Given the description of an element on the screen output the (x, y) to click on. 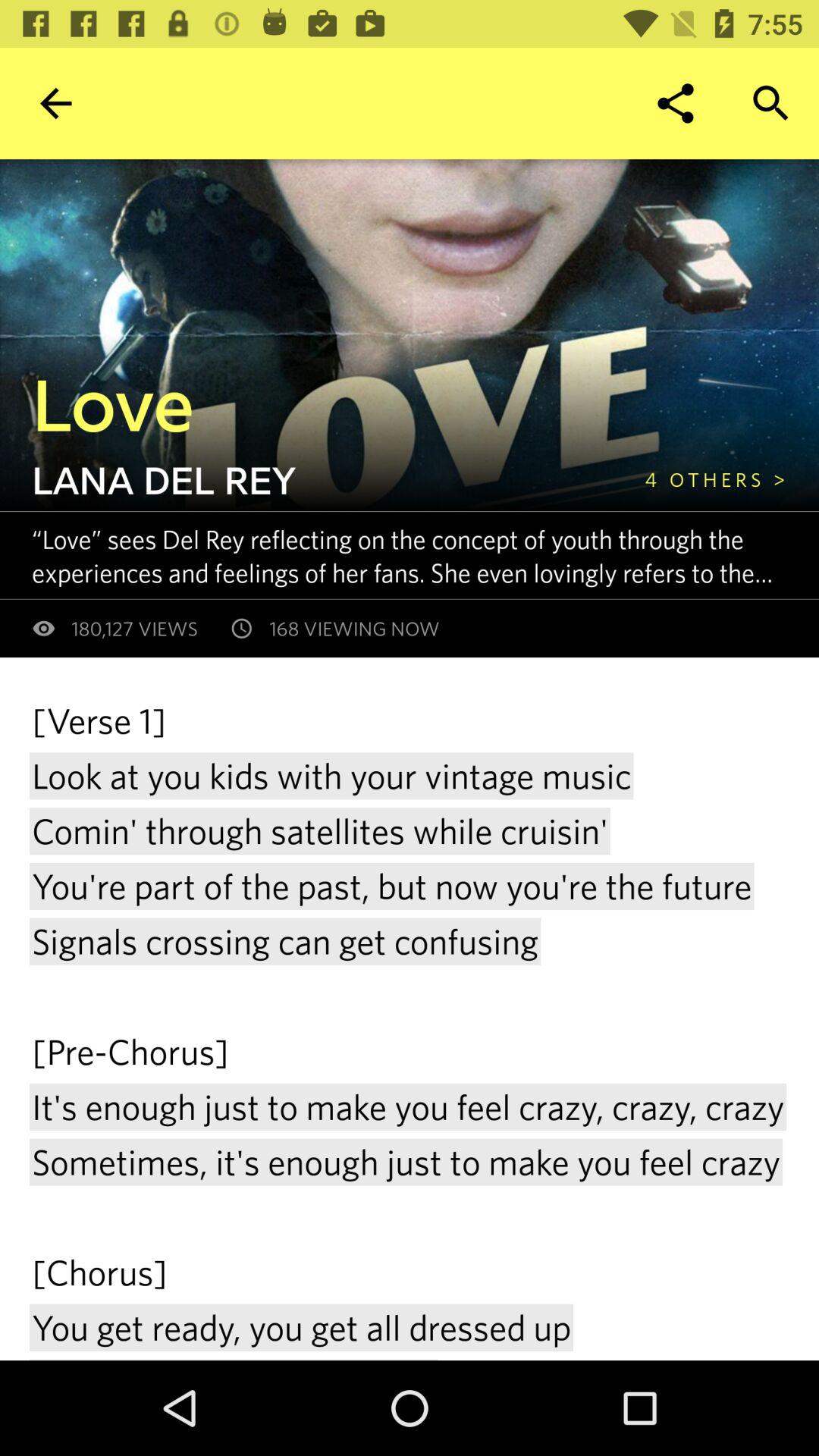
scroll until love sees del (425, 554)
